Given the description of an element on the screen output the (x, y) to click on. 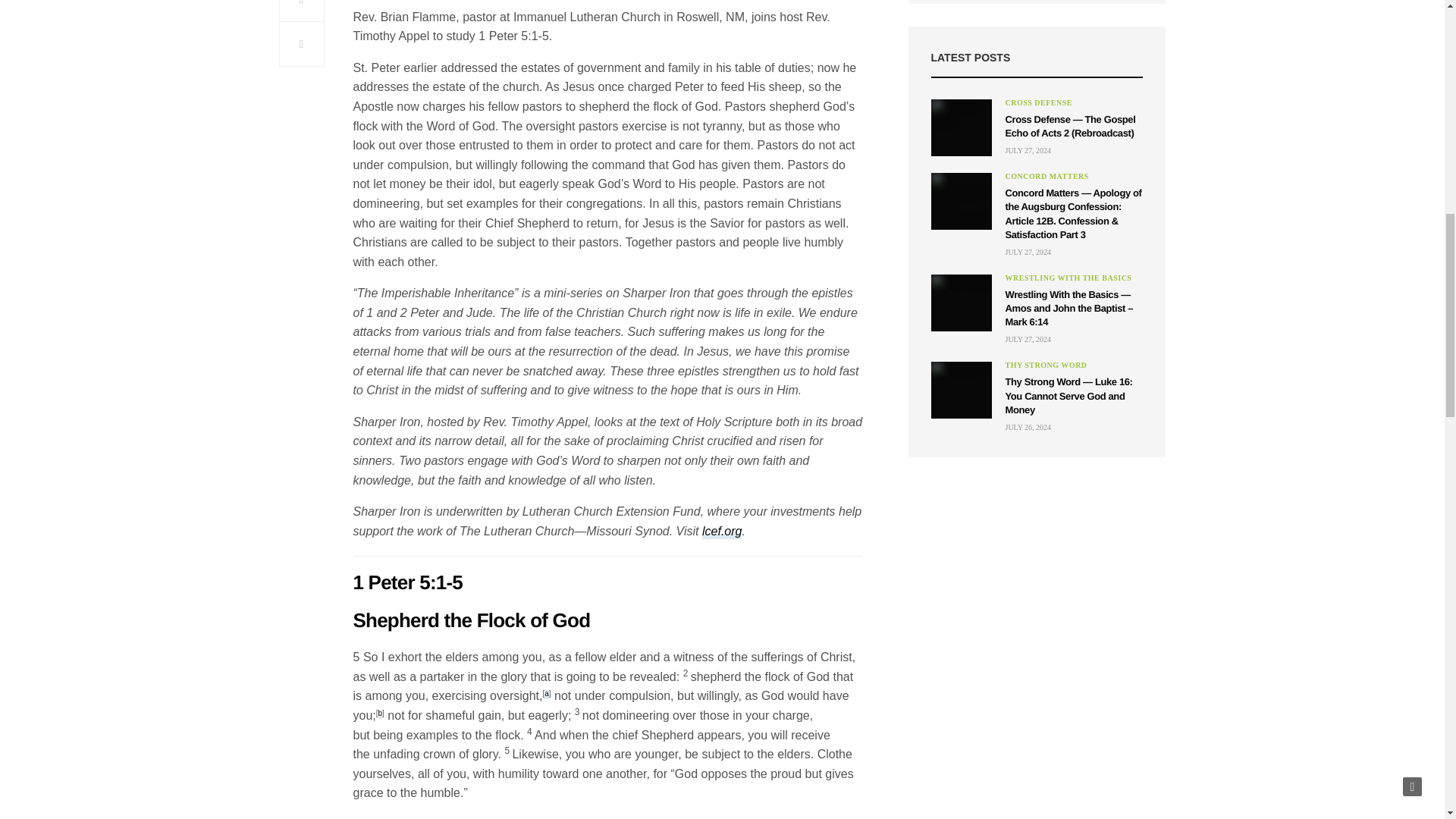
See footnote a (546, 694)
See footnote b (380, 714)
